Given the description of an element on the screen output the (x, y) to click on. 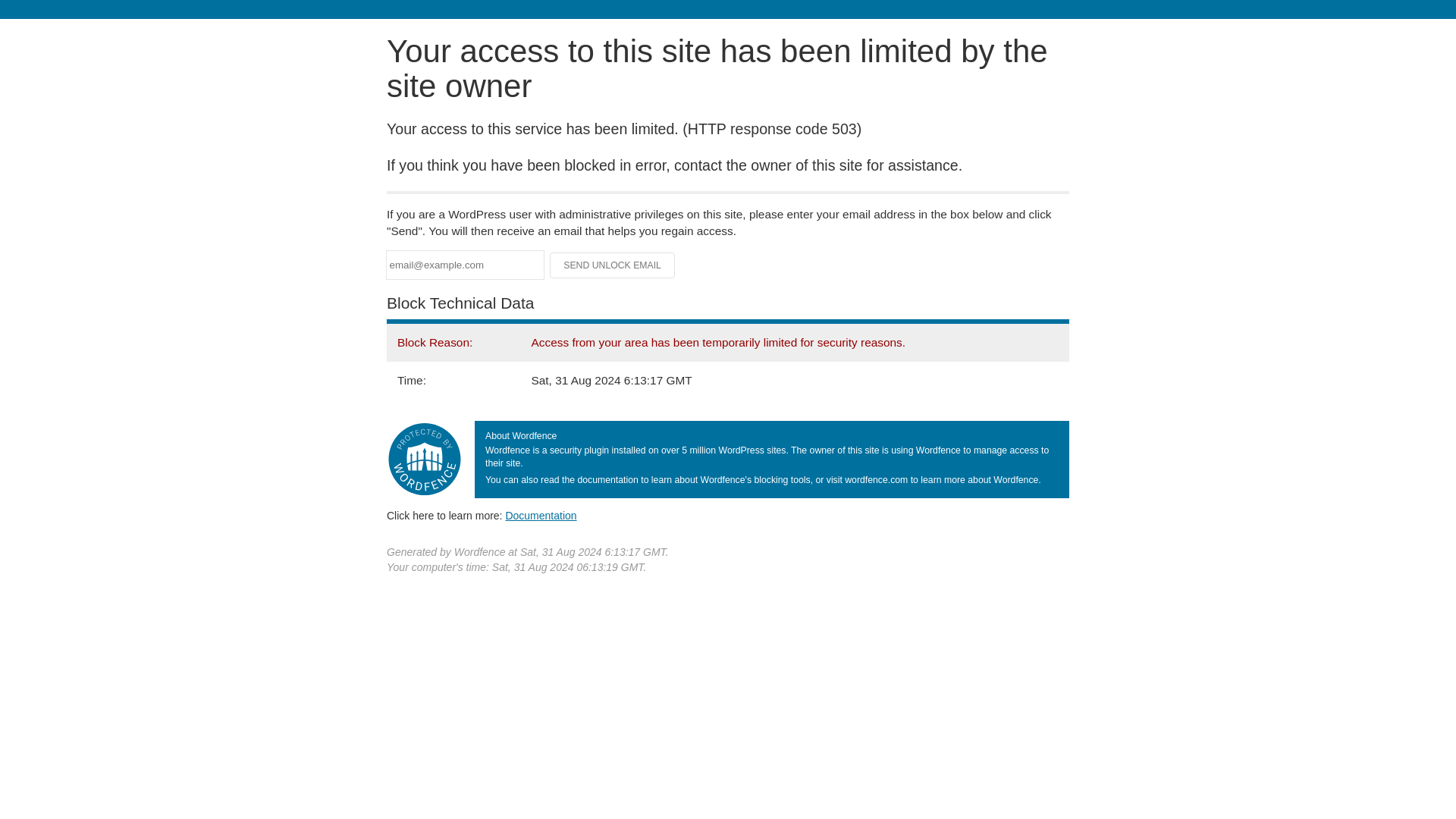
Send Unlock Email (612, 265)
Documentation (540, 515)
Send Unlock Email (612, 265)
